Given the description of an element on the screen output the (x, y) to click on. 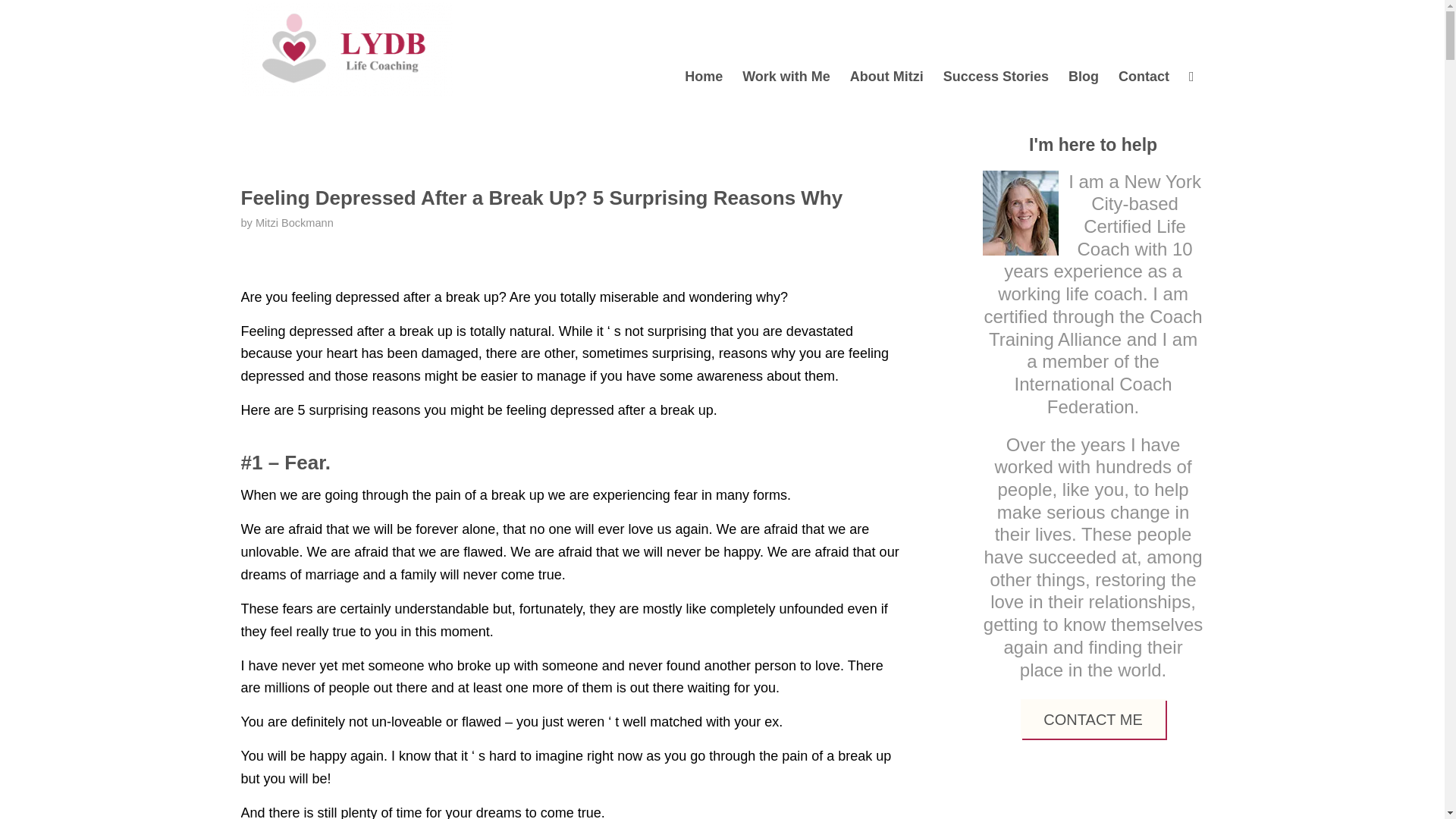
Success Stories (995, 48)
Work with Me (786, 48)
Posts by Mitzi Bockmann (294, 223)
Feeling Depressed After a Break Up? 5 Surprising Reasons Why (542, 197)
Mitzi Bockmann (294, 223)
About Mitzi (886, 48)
